Given the description of an element on the screen output the (x, y) to click on. 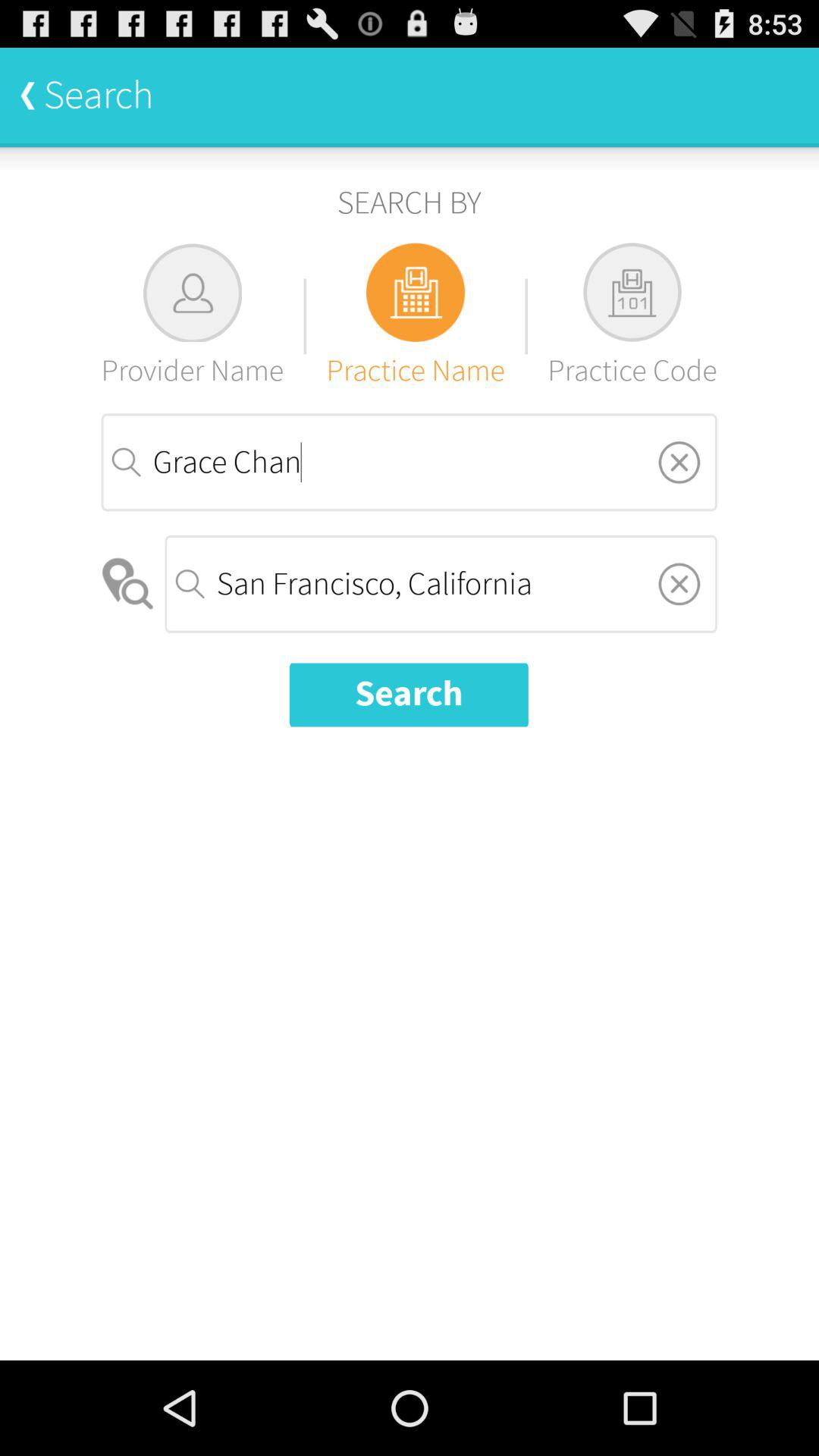
select the icon below the grace chan icon (679, 583)
